Given the description of an element on the screen output the (x, y) to click on. 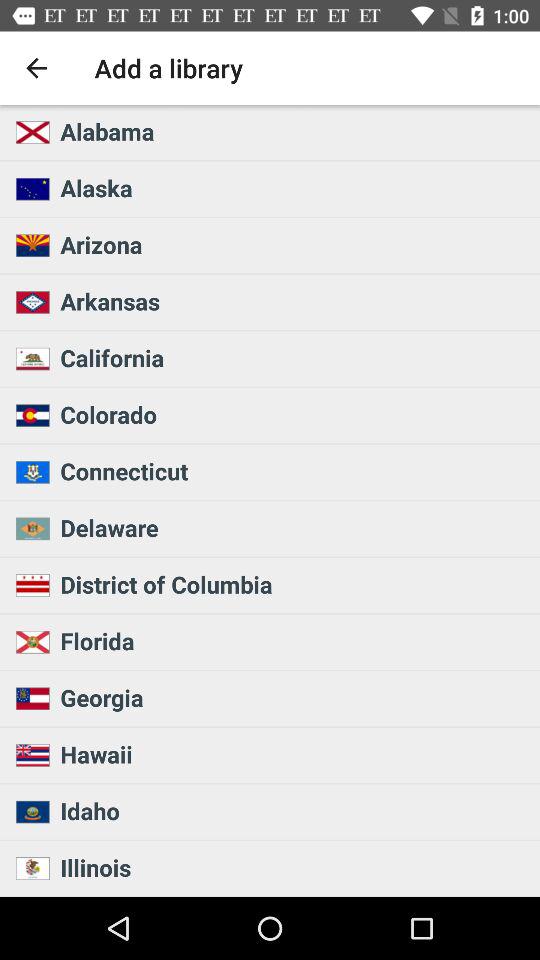
swipe to the illinois icon (294, 867)
